Given the description of an element on the screen output the (x, y) to click on. 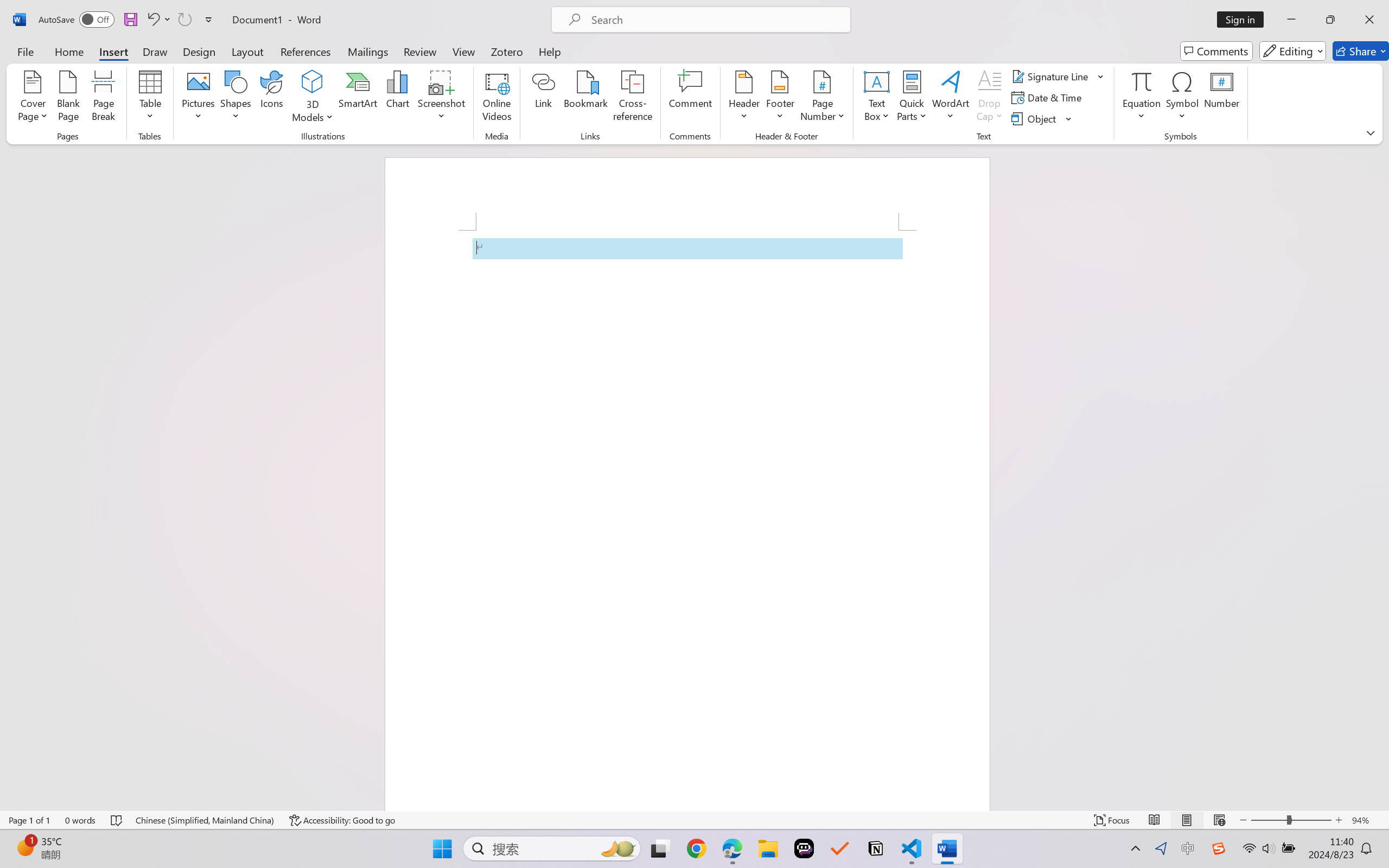
Online Videos... (496, 97)
Object... (1035, 118)
Undo Apply Quick Style (152, 19)
Cover Page (33, 97)
Quick Parts (912, 97)
